Given the description of an element on the screen output the (x, y) to click on. 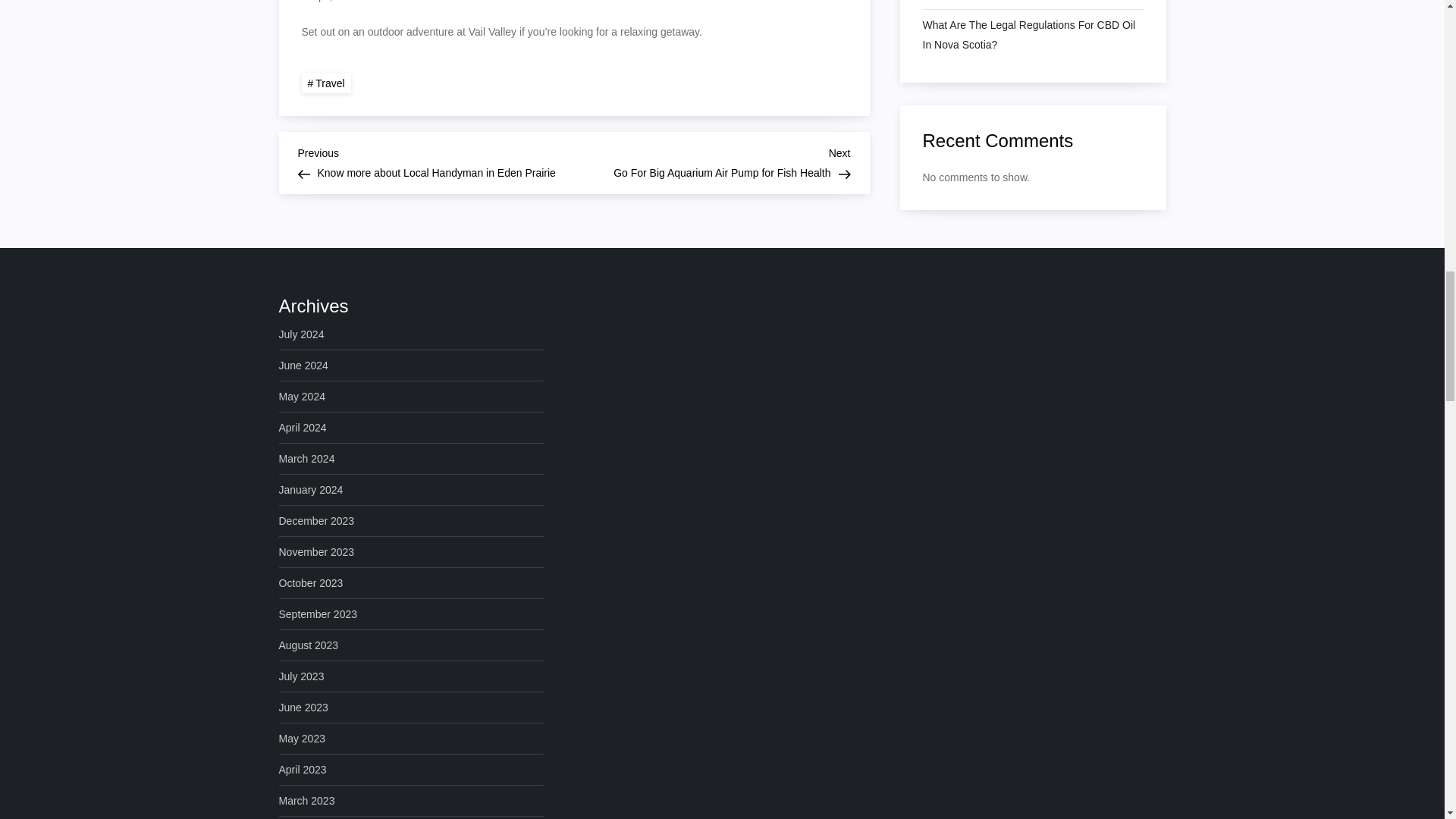
June 2023 (304, 707)
December 2023 (317, 520)
April 2024 (302, 427)
Travel (325, 82)
June 2024 (304, 365)
November 2023 (317, 551)
July 2023 (301, 676)
September 2023 (318, 614)
October 2023 (311, 582)
